Given the description of an element on the screen output the (x, y) to click on. 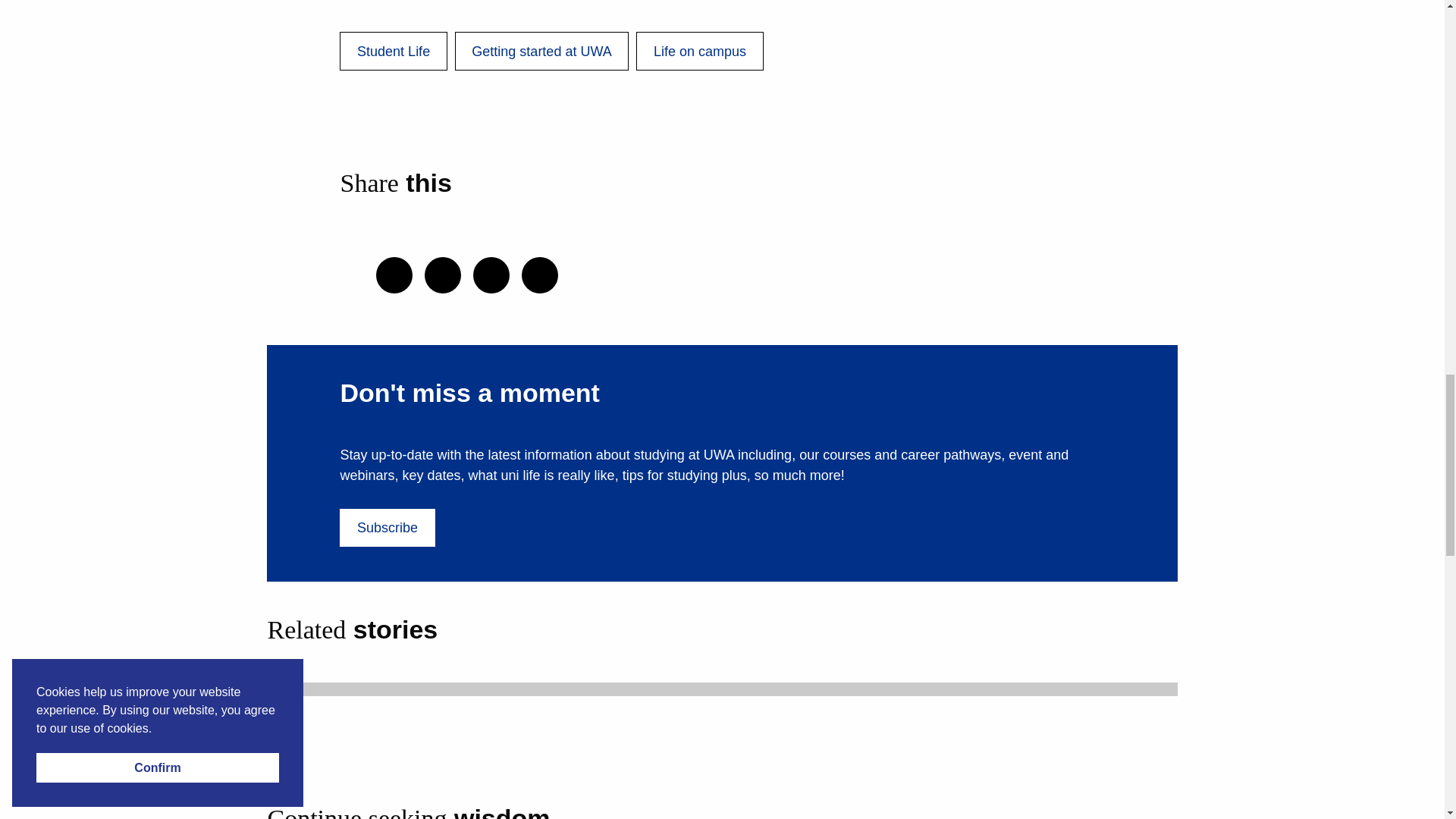
Getting started at UWA (541, 50)
Life on campus (699, 50)
Student Life (392, 50)
Twitter (443, 275)
Getting started at UWA (541, 50)
Life on campus (699, 50)
Facebook (539, 275)
Student Life (392, 50)
Subscribe (386, 527)
